Given the description of an element on the screen output the (x, y) to click on. 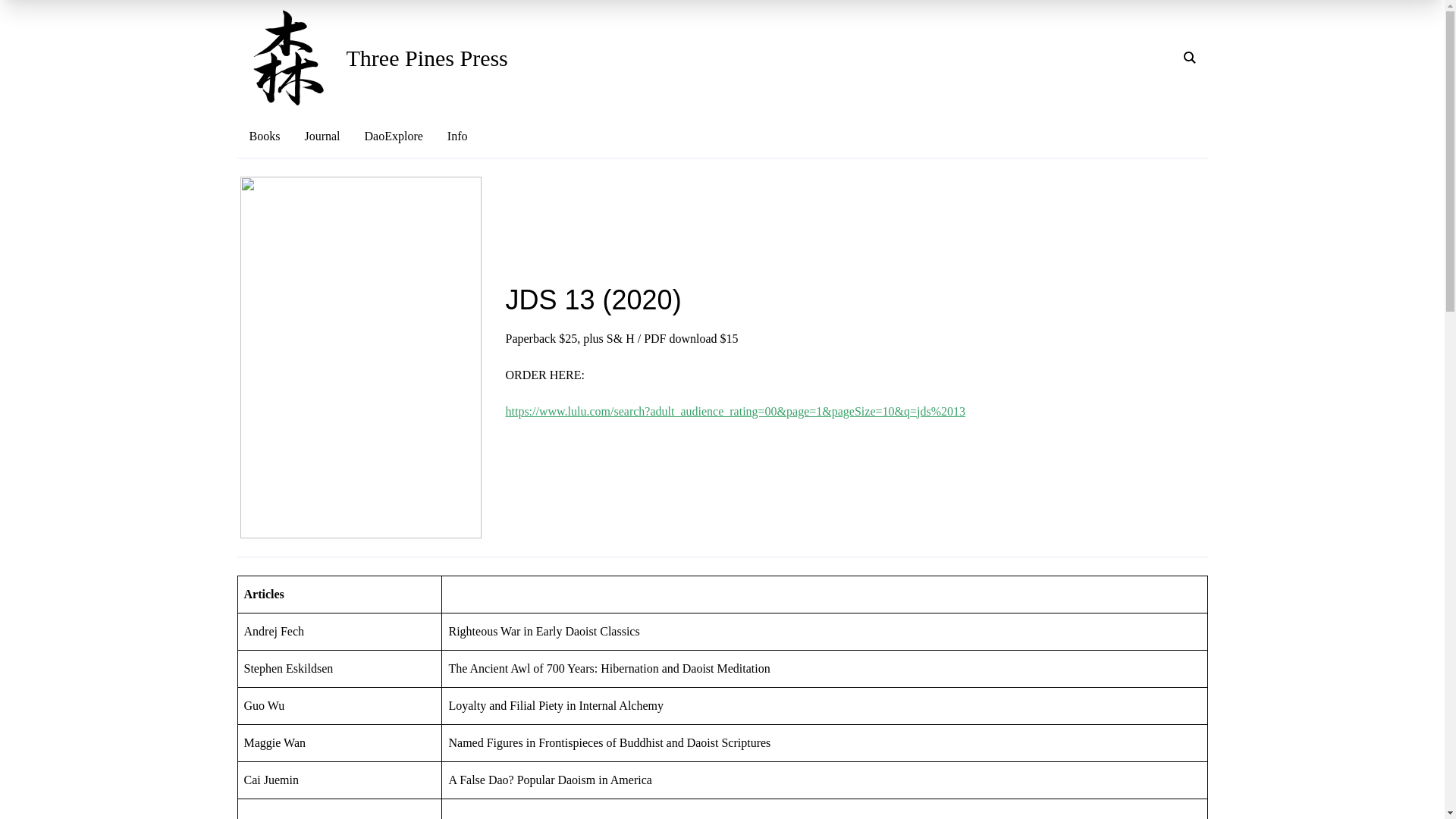
Info (457, 136)
Three Pines Press (426, 57)
Journal (322, 136)
DaoExplore (393, 136)
Books (263, 136)
